Given the description of an element on the screen output the (x, y) to click on. 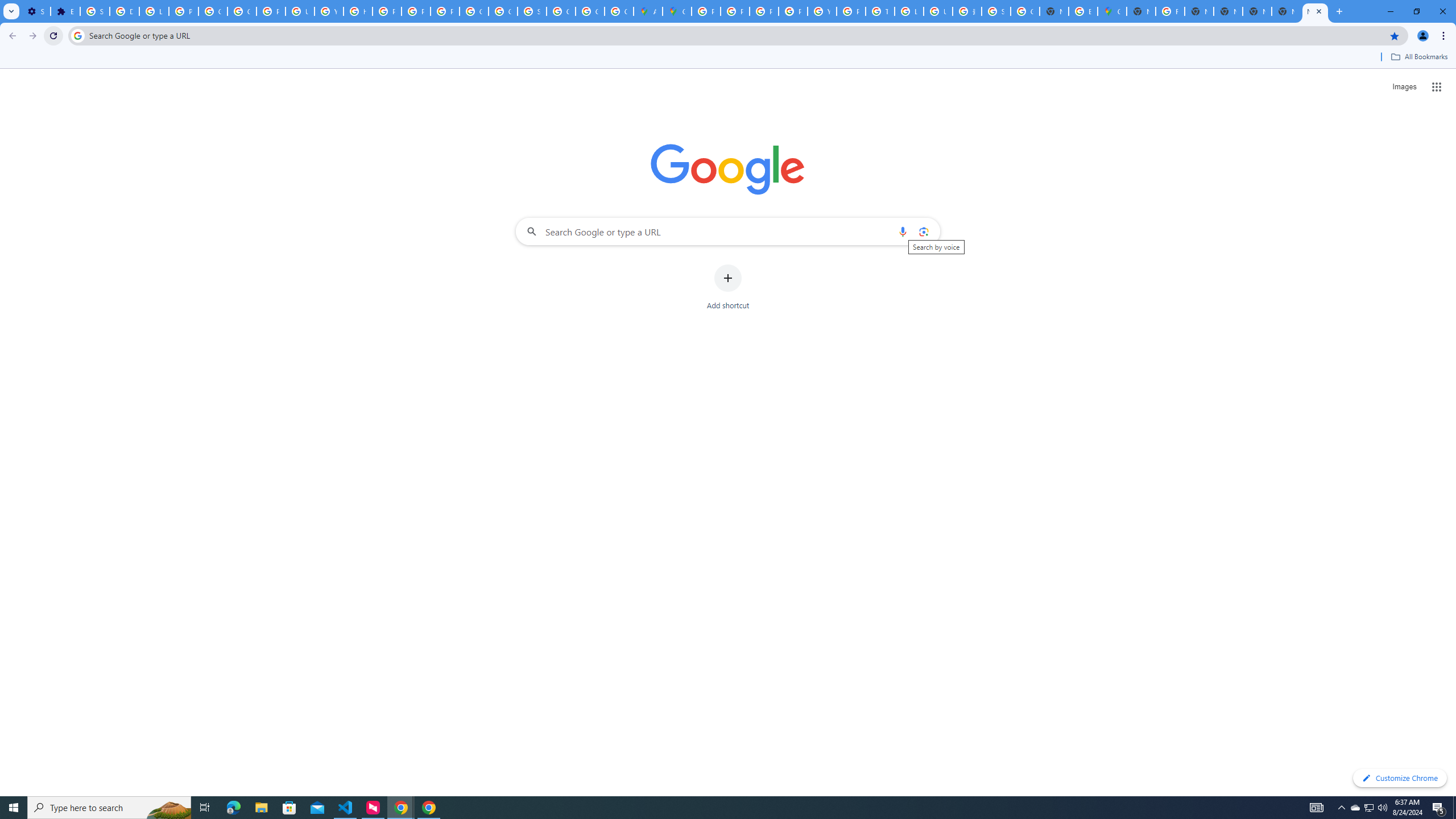
Privacy Help Center - Policies Help (734, 11)
Create your Google Account (619, 11)
Sign in - Google Accounts (531, 11)
YouTube (327, 11)
